Given the description of an element on the screen output the (x, y) to click on. 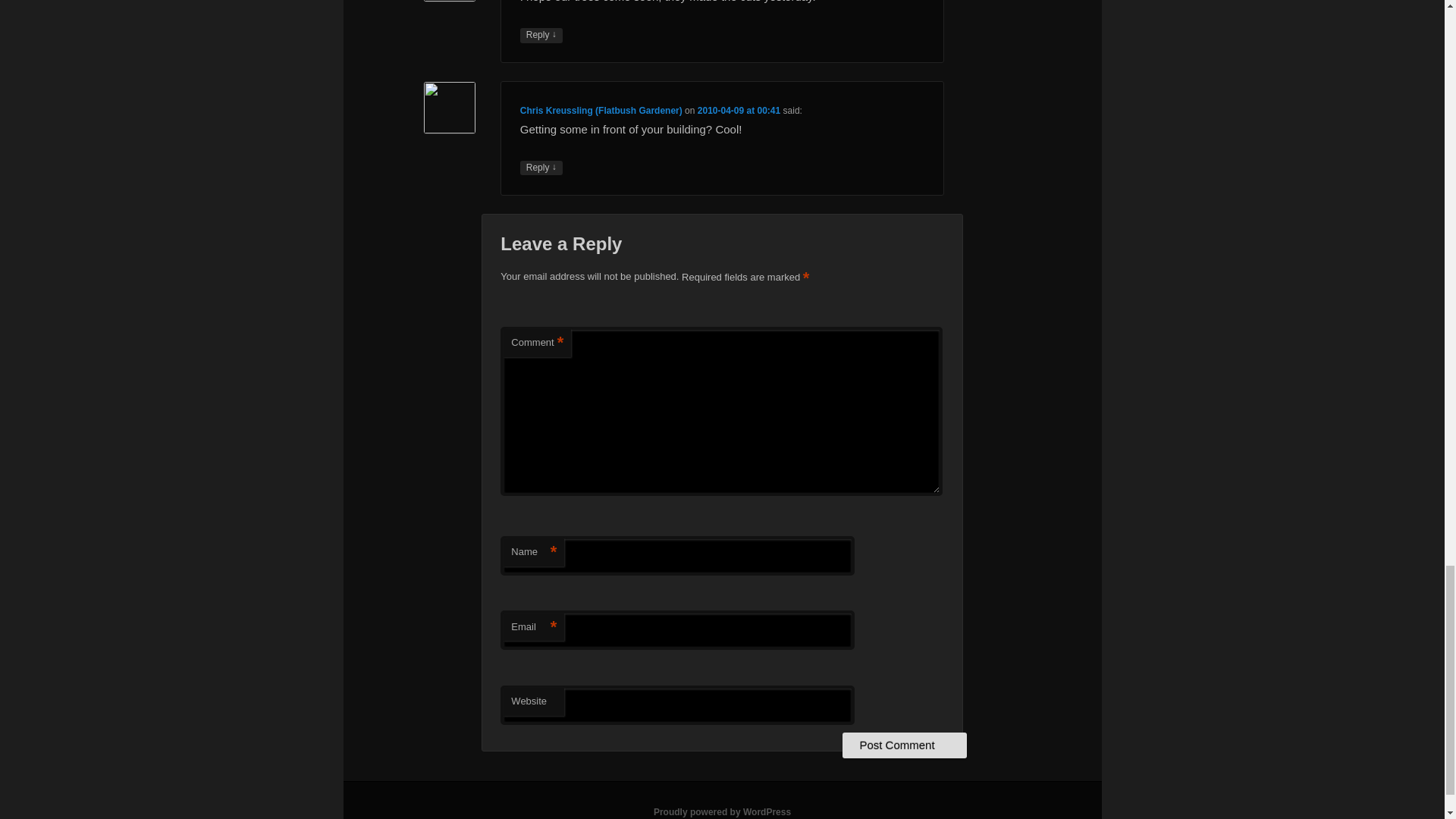
2010-04-09 at 00:41 (738, 110)
Post Comment (904, 745)
Proudly powered by WordPress (721, 811)
Post Comment (904, 745)
Semantic Personal Publishing Platform (721, 811)
